Given the description of an element on the screen output the (x, y) to click on. 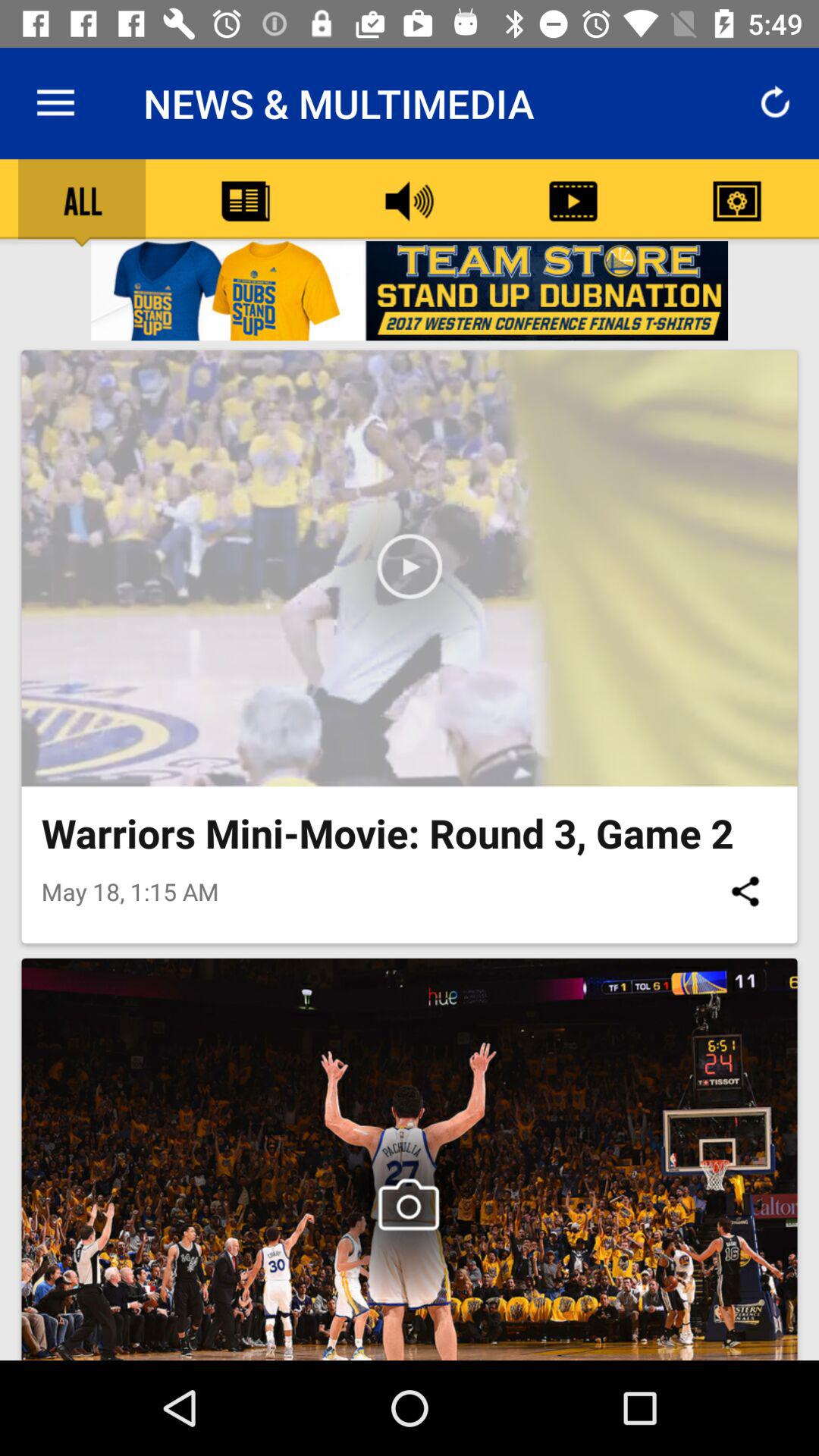
open the icon on the right (745, 891)
